Given the description of an element on the screen output the (x, y) to click on. 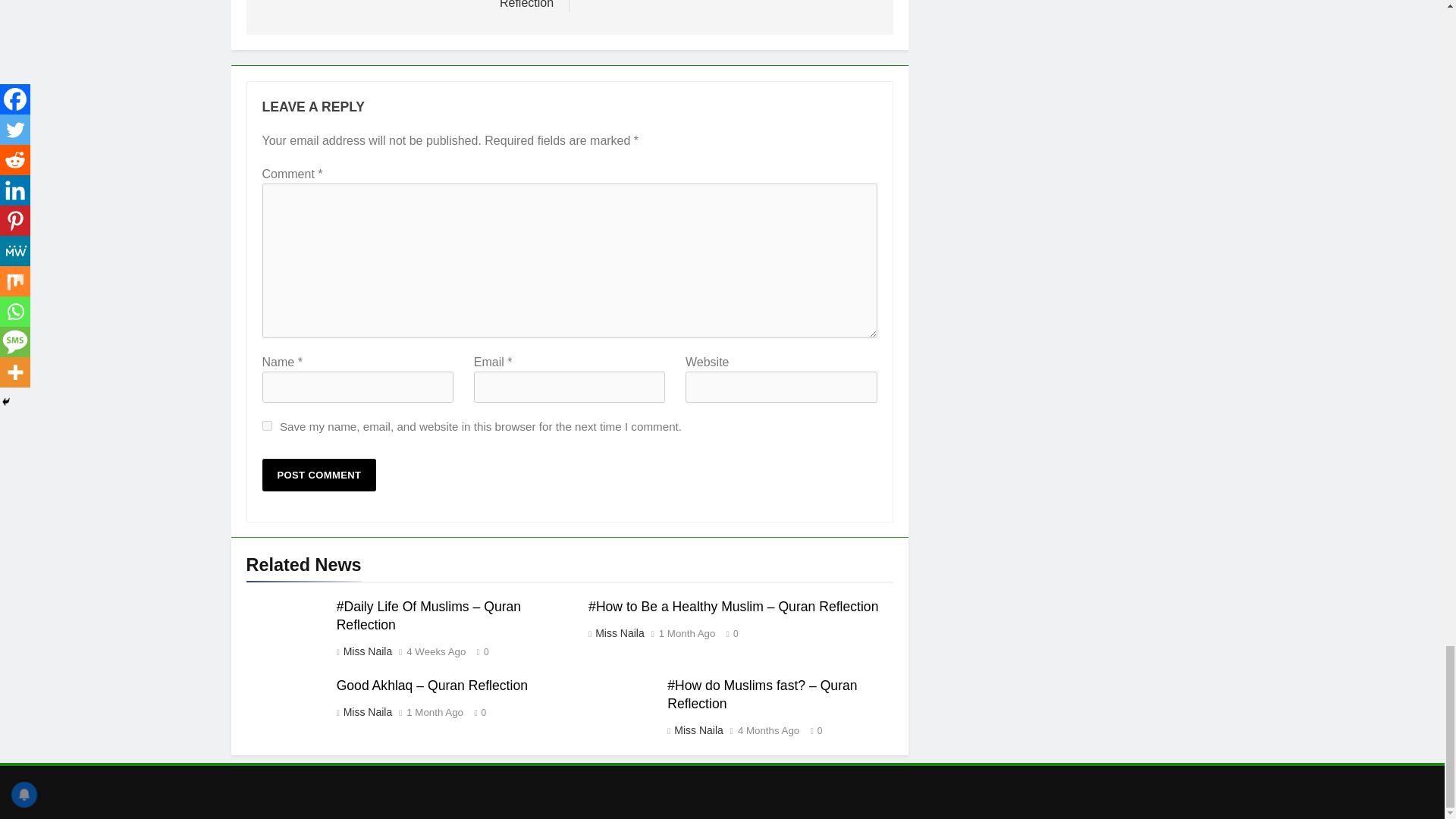
Post Comment (319, 474)
yes (267, 425)
